Given the description of an element on the screen output the (x, y) to click on. 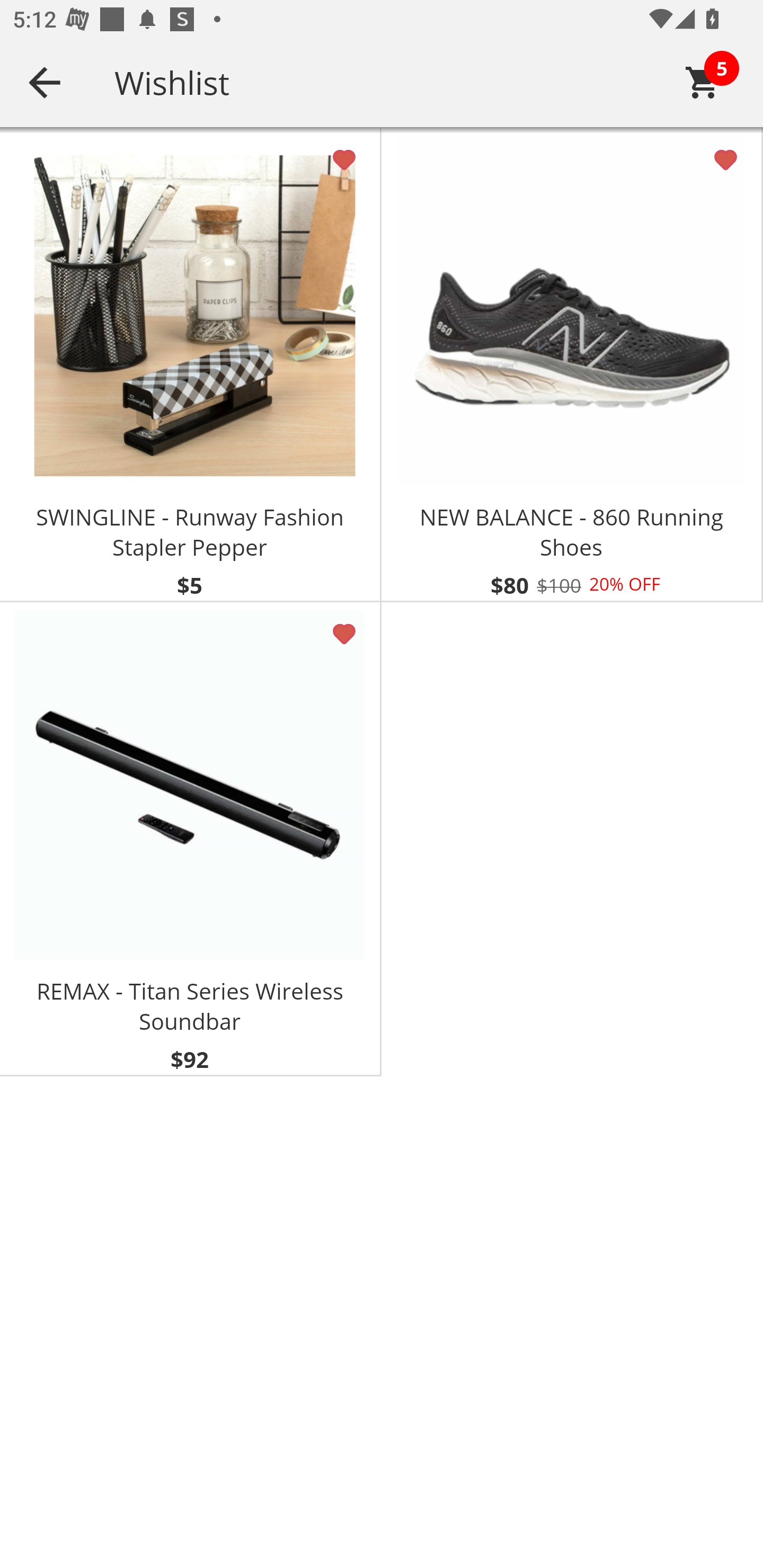
Navigate up (44, 82)
SWINGLINE - Runway Fashion Stapler Pepper $5 (190, 365)
NEW BALANCE - 860 Running Shoes $80 $100 20% OFF (572, 365)
REMAX - Titan Series Wireless Soundbar $92 (190, 838)
